Given the description of an element on the screen output the (x, y) to click on. 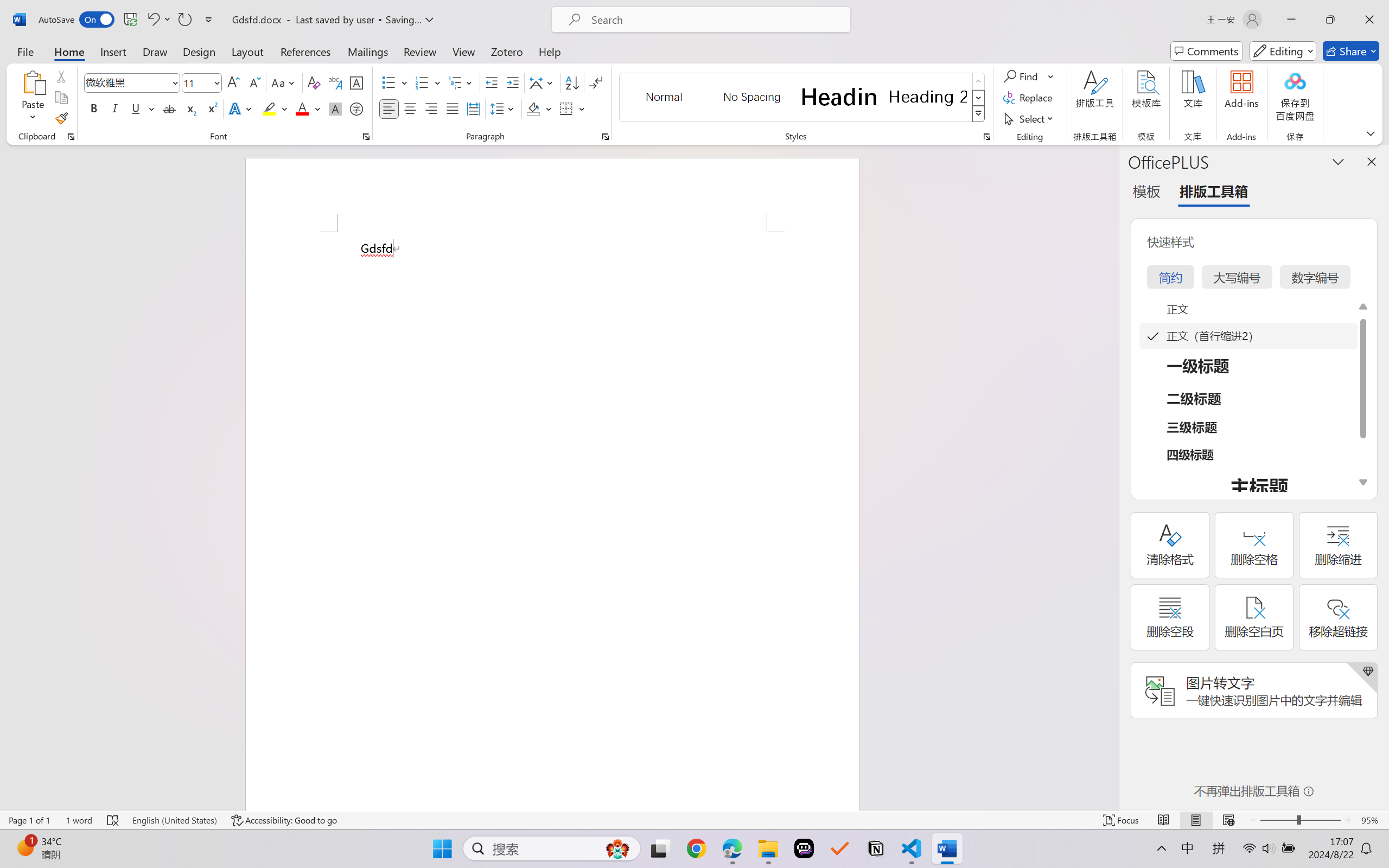
Task Pane Options (1338, 161)
